Given the description of an element on the screen output the (x, y) to click on. 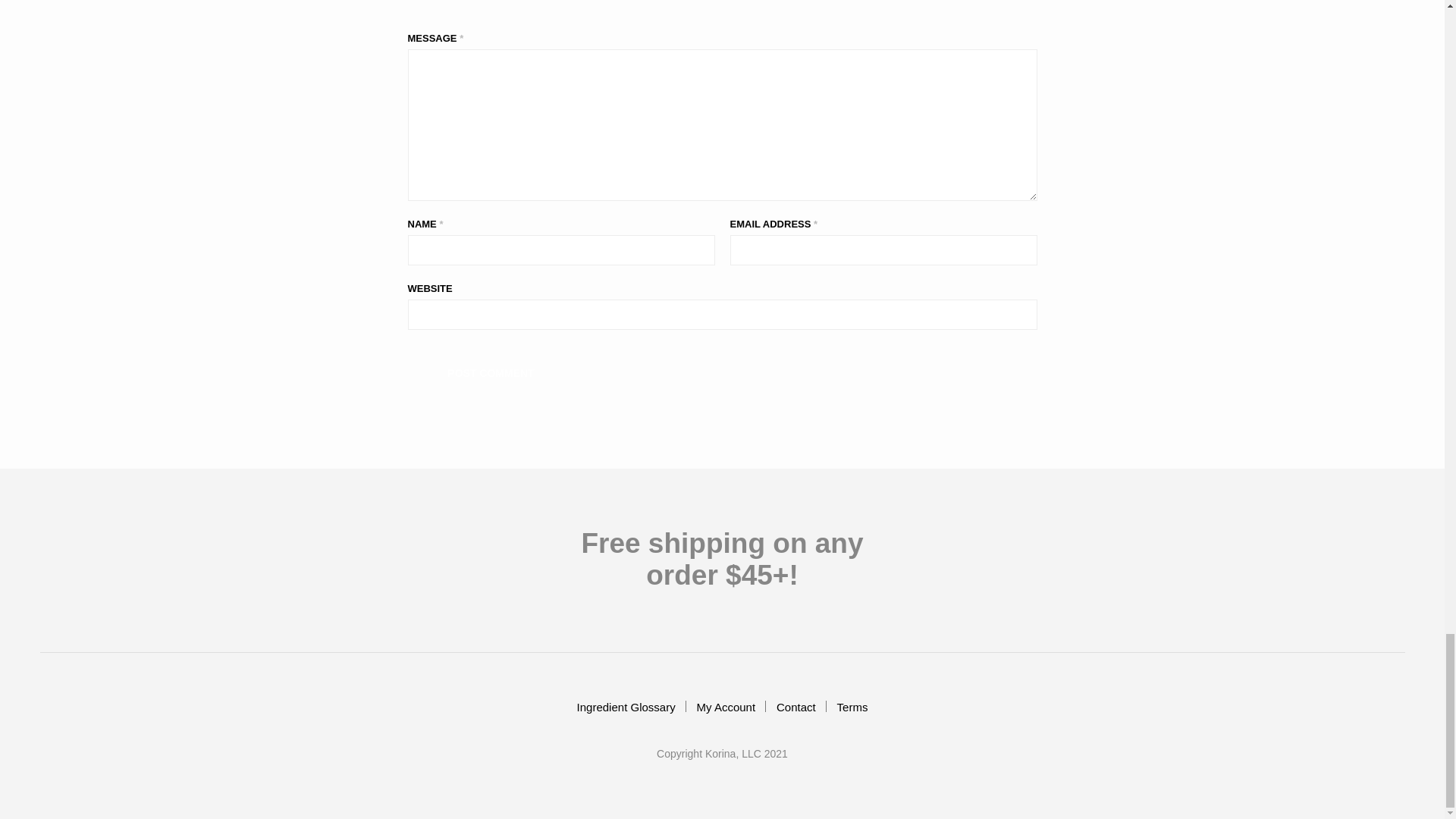
Post Comment (491, 372)
